Given the description of an element on the screen output the (x, y) to click on. 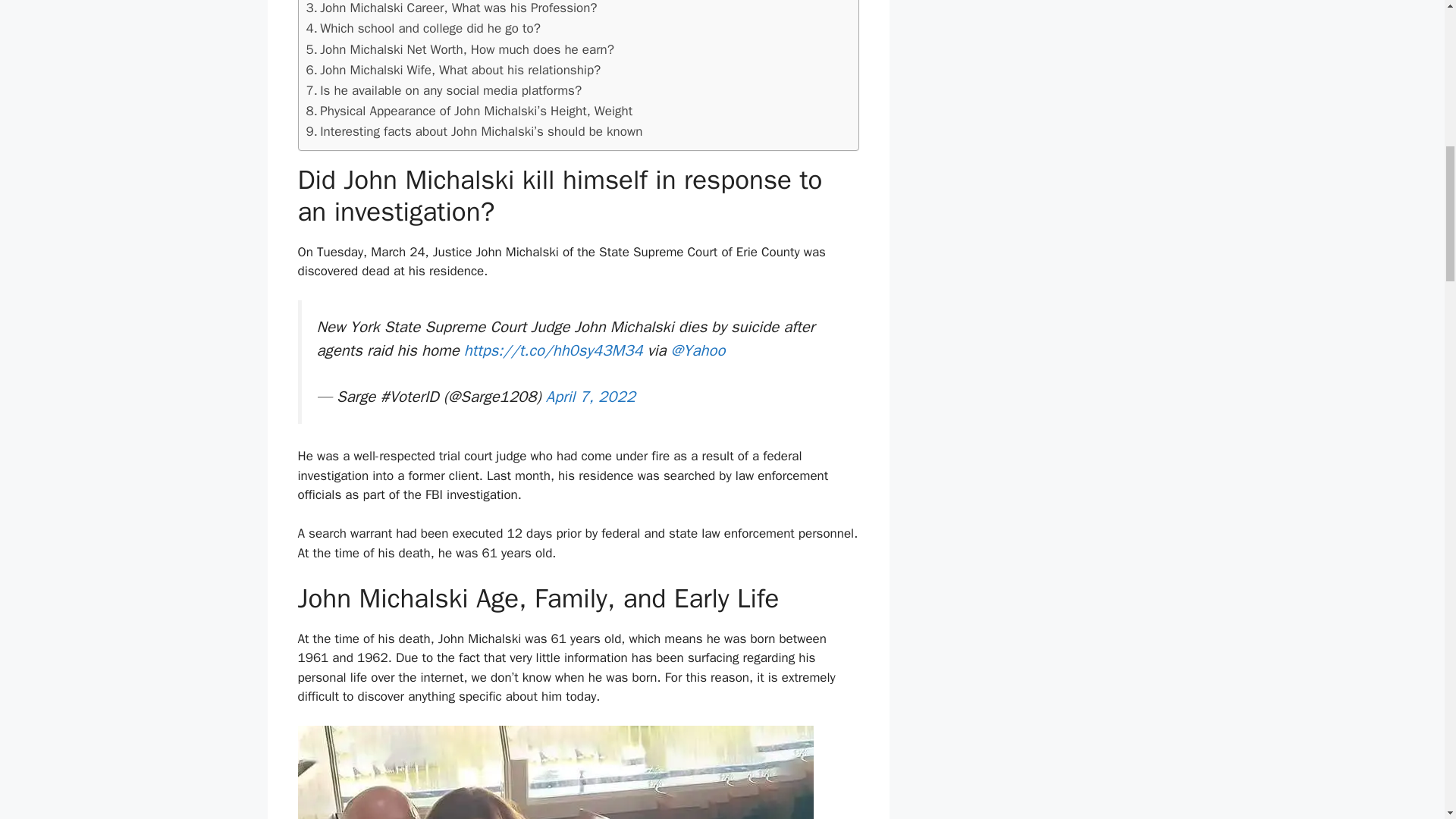
Is he available on any social media platforms? (443, 90)
John Michalski Net Worth, How much does he earn? (459, 49)
John Michalski Wife, What about his relationship? (453, 69)
Which school and college did he go to? (422, 28)
Which school and college did he go to? (422, 28)
April 7, 2022 (590, 396)
John Michalski Career, What was his Profession? (450, 9)
John Michalski Net Worth, How much does he earn? (459, 49)
John Michalski Career, What was his Profession? (450, 9)
John Michalski Wife, What about his relationship? (453, 69)
Is he available on any social media platforms? (443, 90)
